Given the description of an element on the screen output the (x, y) to click on. 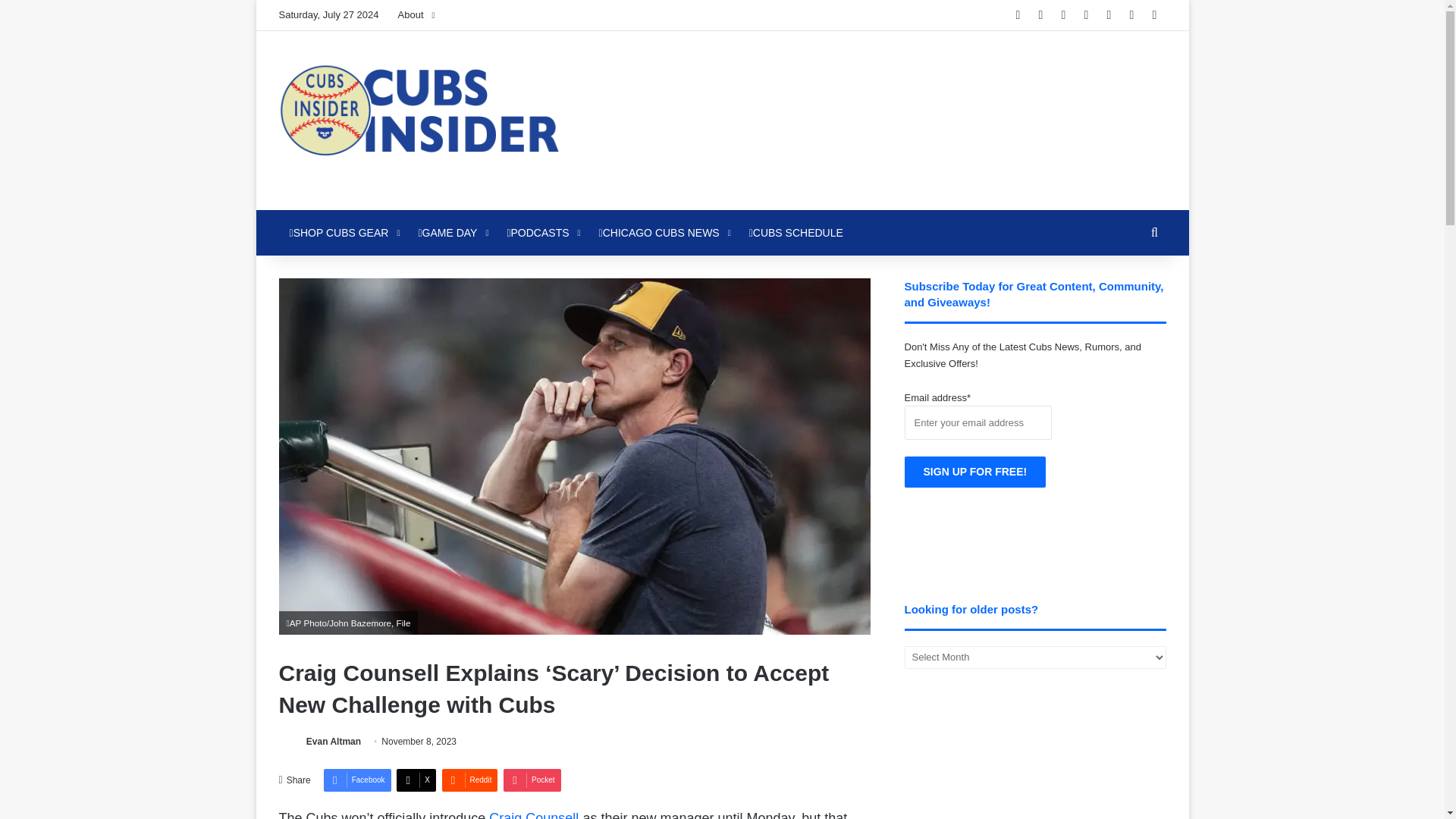
About (416, 15)
Cubs Insider (419, 120)
Instagram (1131, 15)
Search for (1154, 232)
Reddit (469, 780)
Pocket (531, 780)
Reddit (1109, 15)
Facebook (357, 780)
Evan Altman (333, 741)
SIGN UP FOR FREE! (975, 471)
Pocket (531, 780)
Craig Counsell (533, 814)
Reddit (469, 780)
X (415, 780)
YouTube (1086, 15)
